Given the description of an element on the screen output the (x, y) to click on. 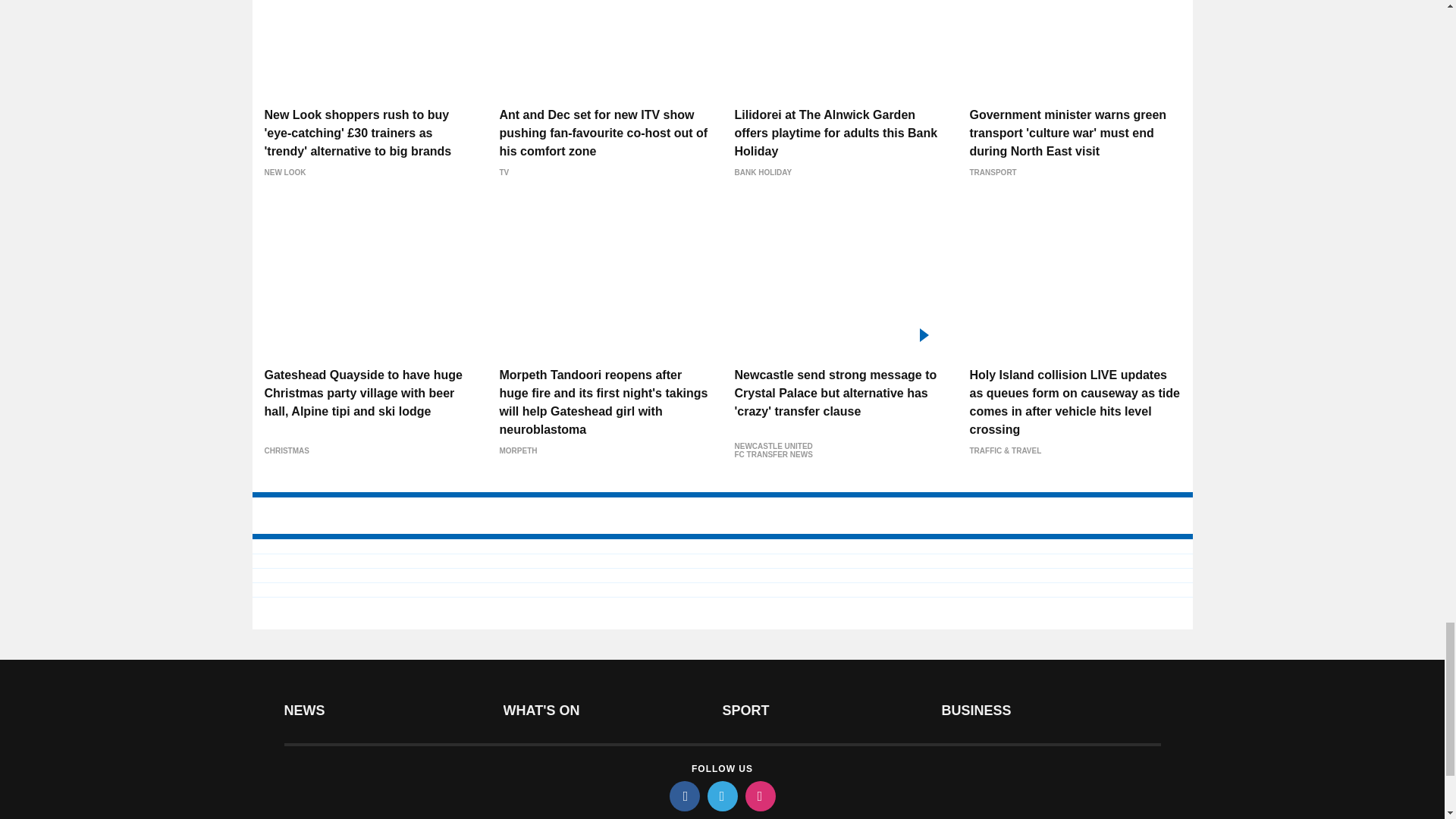
instagram (759, 796)
facebook (683, 796)
twitter (721, 796)
